Given the description of an element on the screen output the (x, y) to click on. 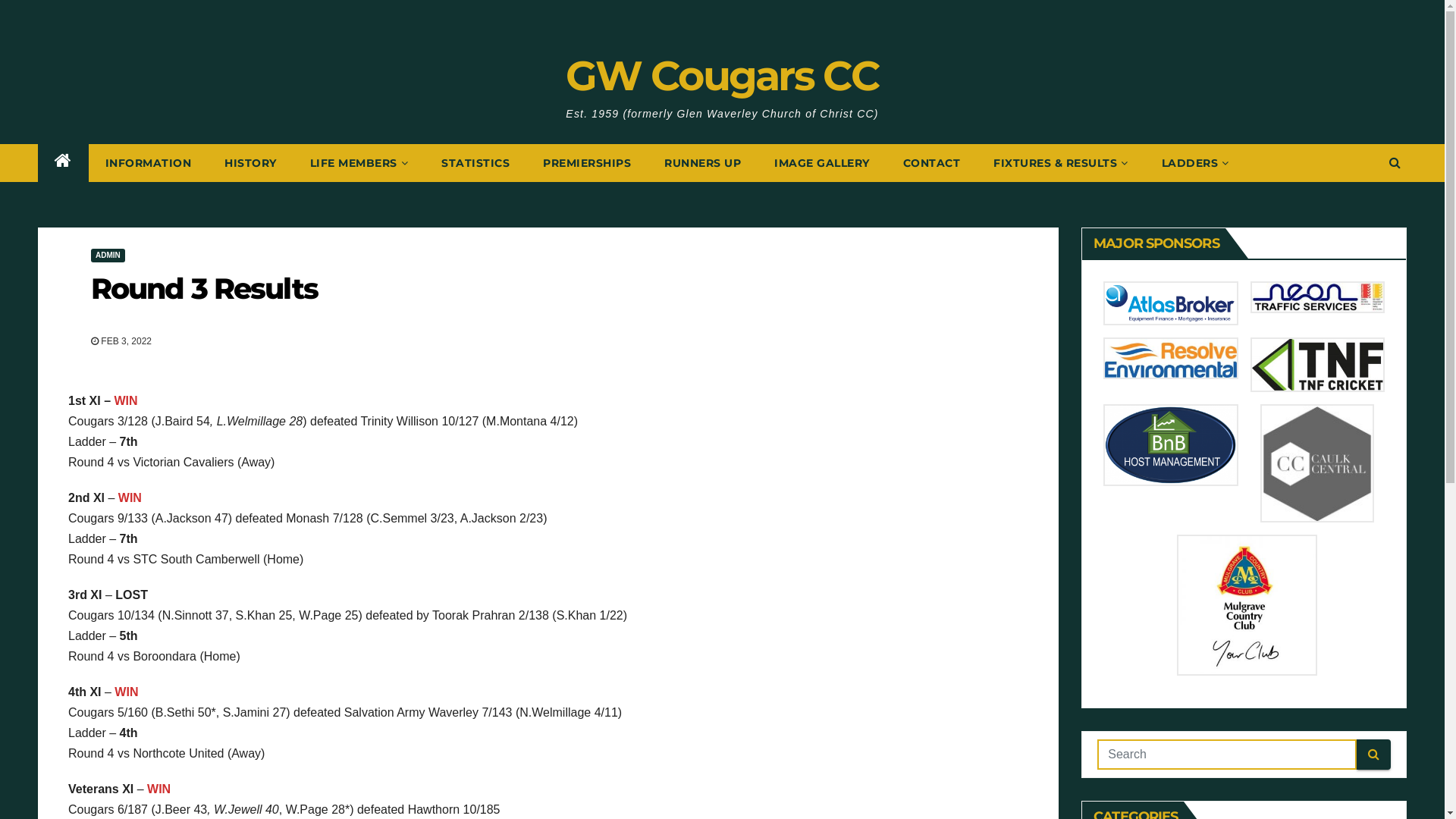
PREMIERSHIPS Element type: text (586, 163)
ADMIN Element type: text (108, 255)
STATISTICS Element type: text (475, 163)
GW Cougars CC Element type: text (721, 75)
Round 3 Results Element type: text (204, 288)
INFORMATION Element type: text (147, 163)
HISTORY Element type: text (250, 163)
FIXTURES & RESULTS Element type: text (1060, 163)
RUNNERS UP Element type: text (702, 163)
LADDERS Element type: text (1195, 163)
LIFE MEMBERS Element type: text (358, 163)
IMAGE GALLERY Element type: text (821, 163)
CONTACT Element type: text (930, 163)
